Given the description of an element on the screen output the (x, y) to click on. 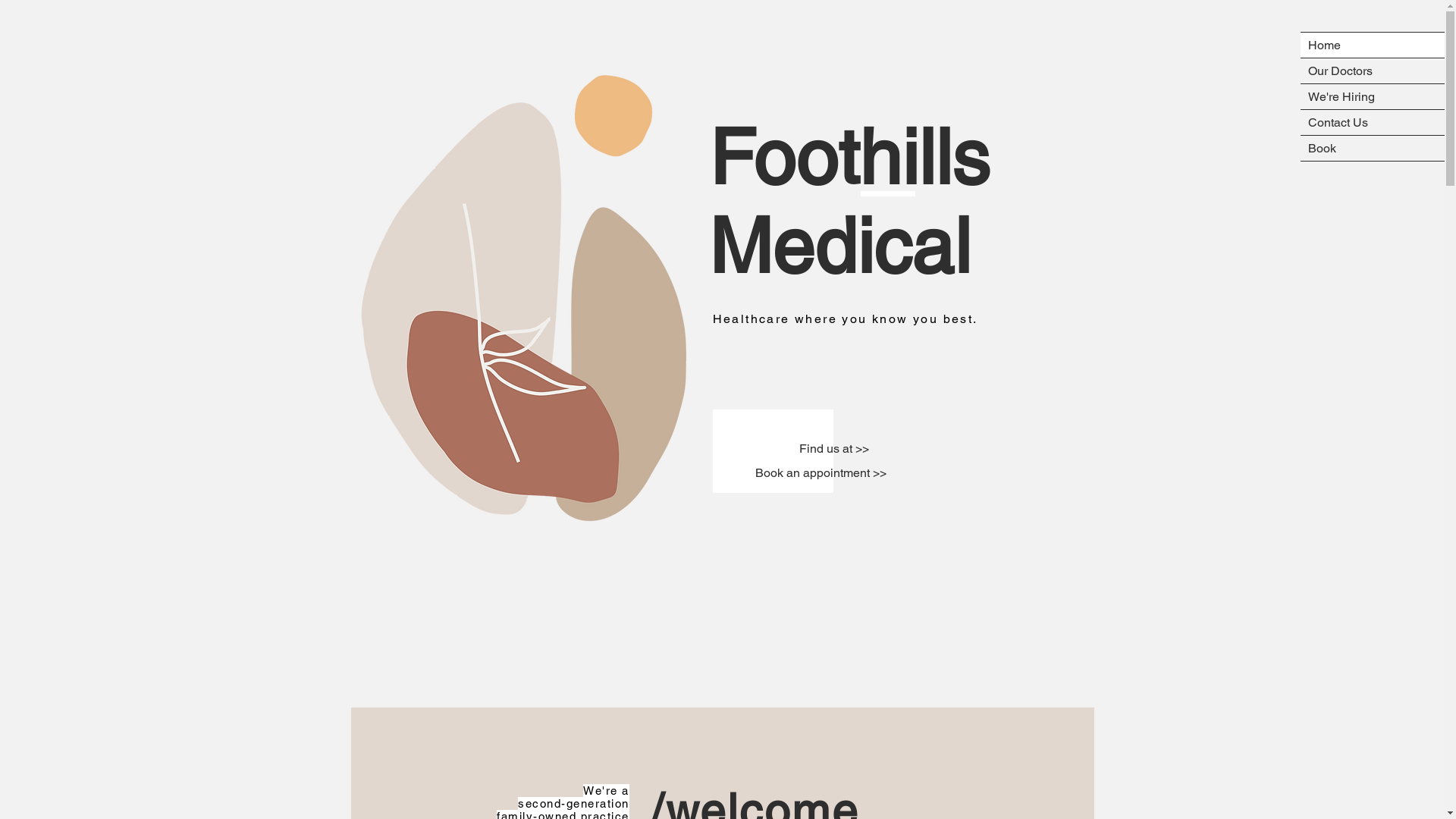
Book Element type: text (1372, 147)
Find us at >> Element type: text (833, 448)
Book an appointment >> Element type: text (820, 473)
Contact Us Element type: text (1372, 121)
We're Hiring Element type: text (1372, 96)
Home Element type: text (1372, 44)
Our Doctors Element type: text (1372, 70)
